Given the description of an element on the screen output the (x, y) to click on. 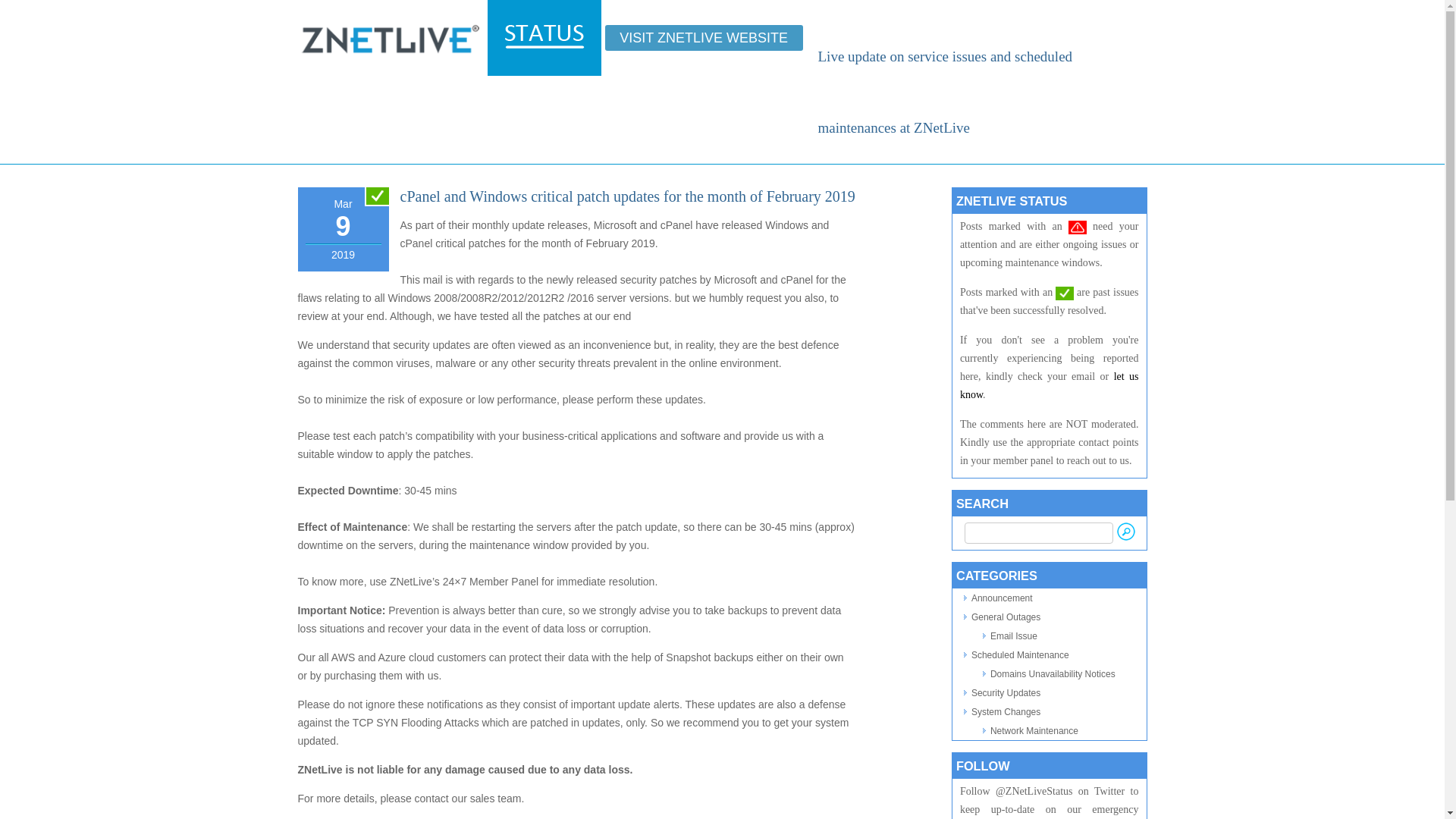
Announcement (1001, 597)
Network Maintenance (1034, 730)
VISIT ZNETLIVE WEBSITE (704, 37)
Domains Unavailability Notices (1052, 674)
Resolved Issues (1064, 293)
General Outages (1006, 616)
Email Issue (1013, 635)
Search (1125, 531)
Search (1125, 531)
System Changes (1006, 711)
let us know (1048, 385)
Unresolved Issues (1077, 227)
Scheduled Maintenance (1019, 655)
Real Time Updates About Different Issues at ZNetLive (544, 35)
